Given the description of an element on the screen output the (x, y) to click on. 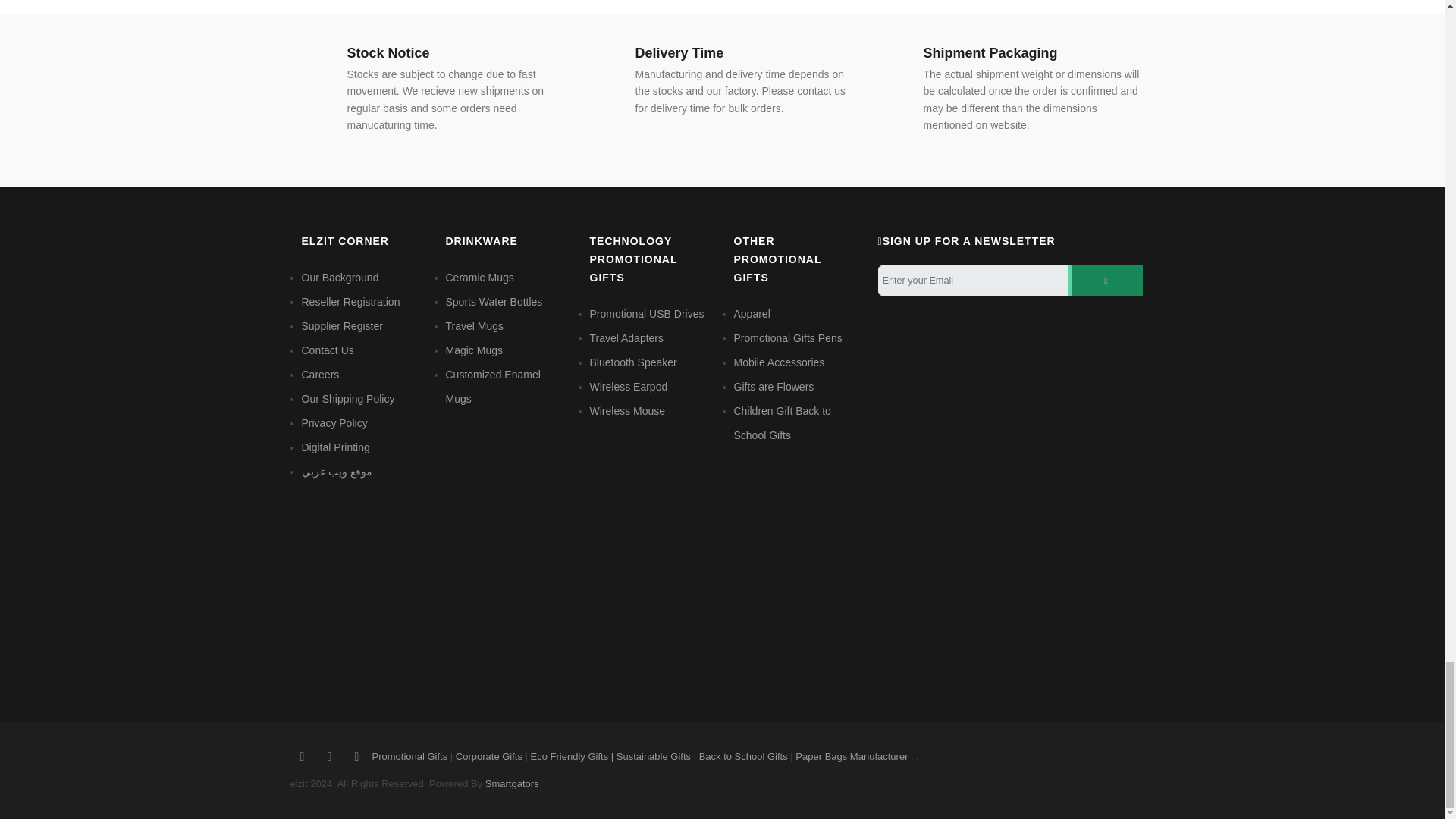
Elzit Location Map Guide (794, 552)
